Given the description of an element on the screen output the (x, y) to click on. 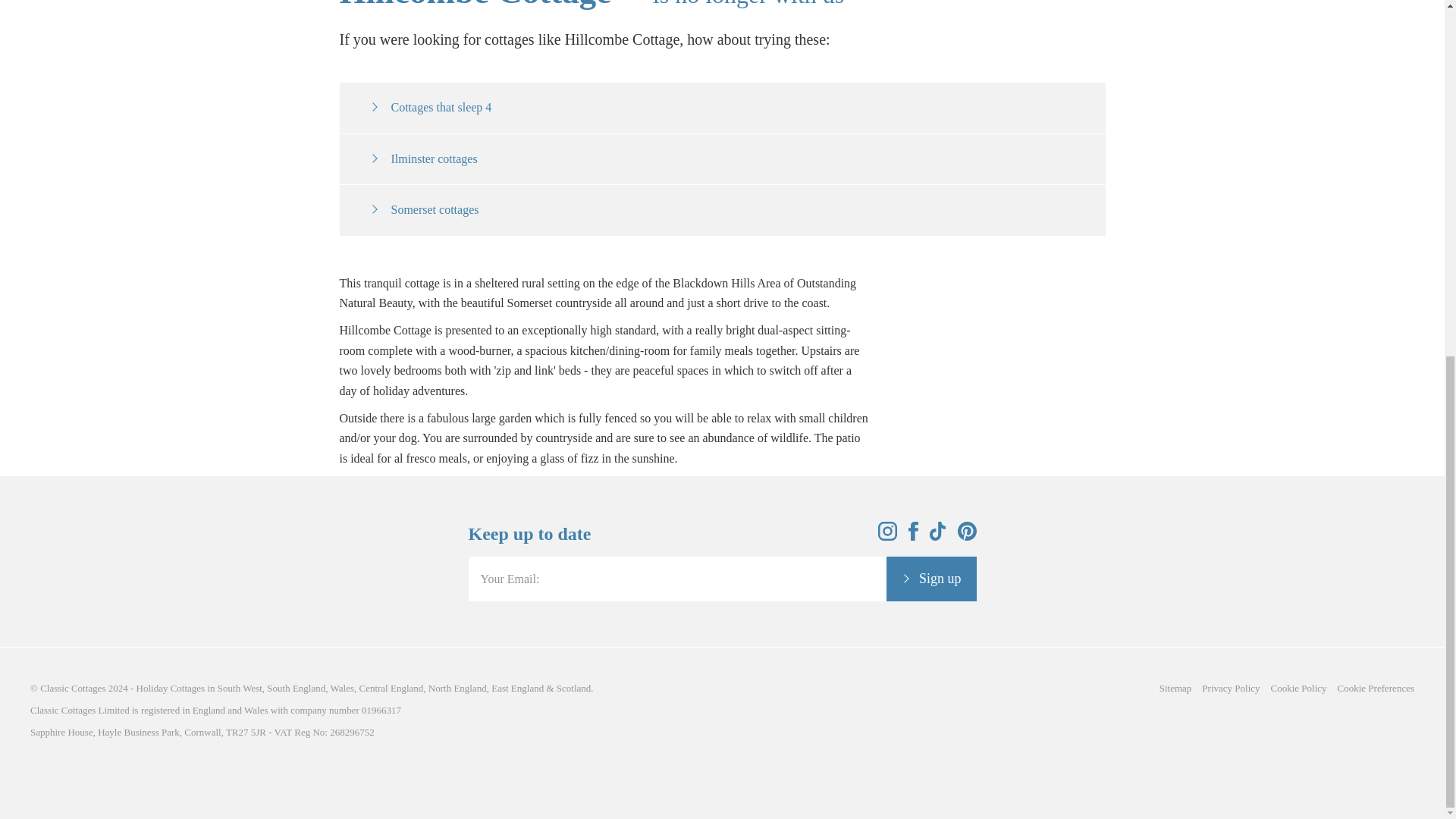
Sign up (931, 578)
Wales (341, 687)
South England (295, 687)
Follow Classic Cottages Instagram (886, 535)
Follow Classic Cottages Tik Tok (938, 535)
Classic Cottages (72, 687)
Central England (390, 687)
Cottages that sleep 4 (430, 106)
Follow Classic Cottages Facebook (913, 535)
Follow Classic Cottages Pinterest (965, 535)
South West (239, 687)
Holiday Cottages (170, 687)
Somerset cottages (424, 209)
North England (457, 687)
Ilminster cottages (423, 158)
